Given the description of an element on the screen output the (x, y) to click on. 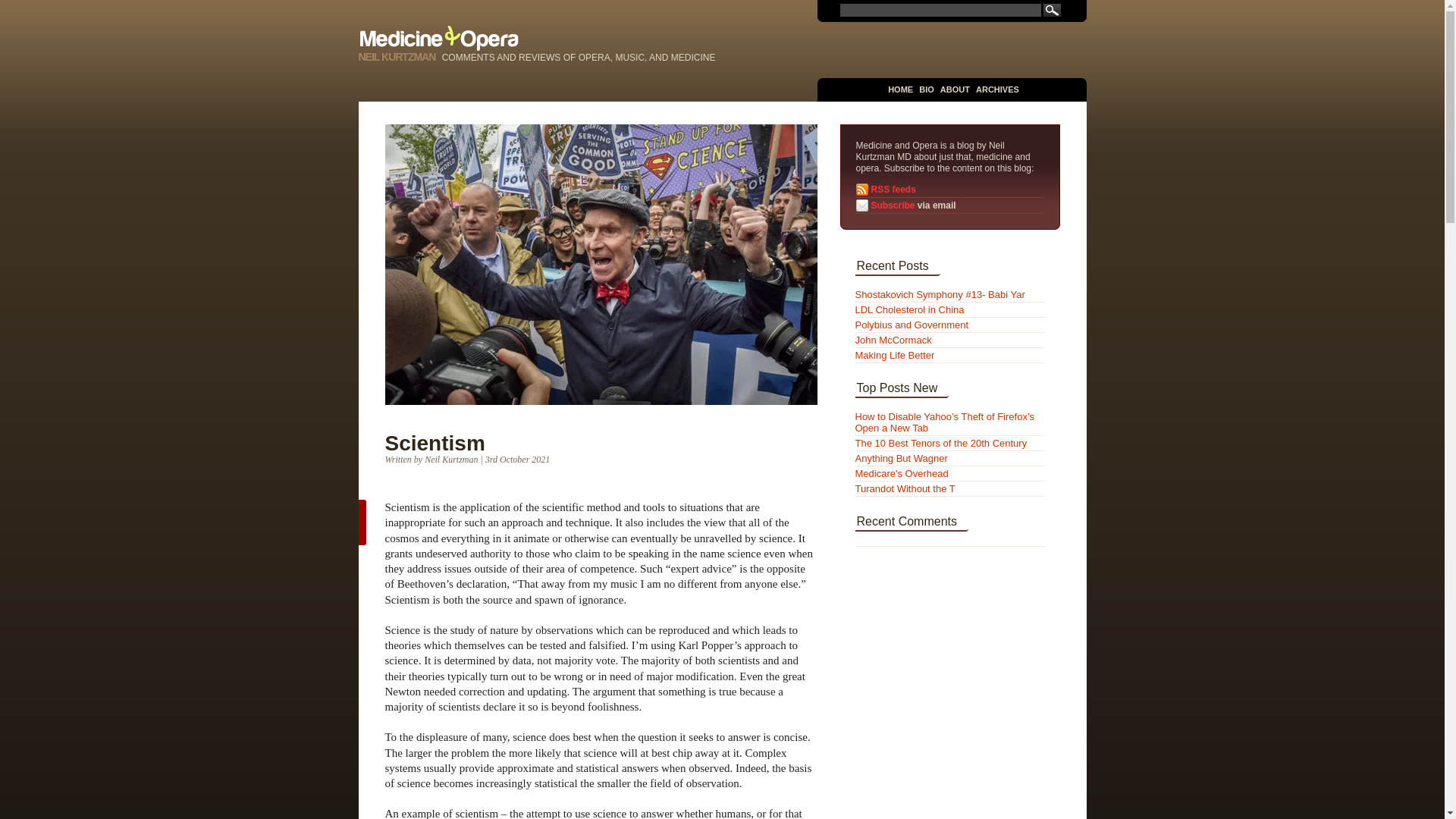
Search (1052, 10)
Permalink to Making Life Better (895, 355)
ABOUT (954, 89)
Permalink to Polybius and Government (912, 324)
ARCHIVES (997, 89)
BIO (926, 89)
Polybius and Government (912, 324)
LDL Cholesterol in China (909, 309)
Subscribe (892, 204)
Search (1052, 10)
HOME (900, 89)
Permalink to LDL Cholesterol in China (909, 309)
RSS feeds (892, 189)
Permalink to John McCormack (893, 339)
